Given the description of an element on the screen output the (x, y) to click on. 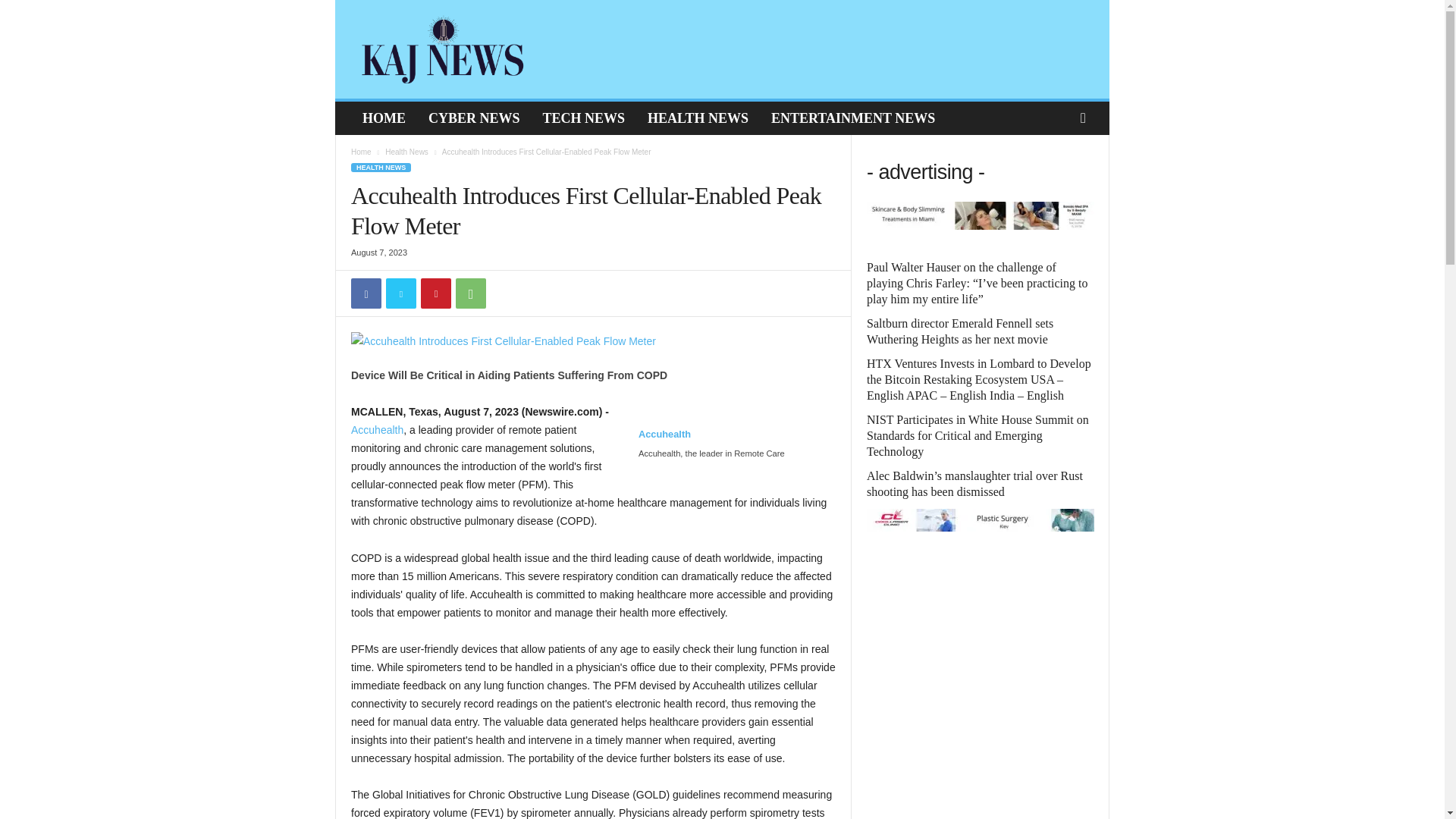
HOME (383, 118)
Kaj News (442, 48)
CYBER NEWS (473, 118)
Accuhealth (376, 429)
TECH NEWS (584, 118)
Health News (406, 152)
View all posts in Health News (406, 152)
Twitter (400, 293)
Home (360, 152)
HEALTH NEWS (698, 118)
Accuhealth Introduces First Cellular-Enabled Peak Flow Meter (592, 341)
Facebook (365, 293)
Pinterest (435, 293)
WhatsApp (470, 293)
Accuhealth (664, 442)
